Given the description of an element on the screen output the (x, y) to click on. 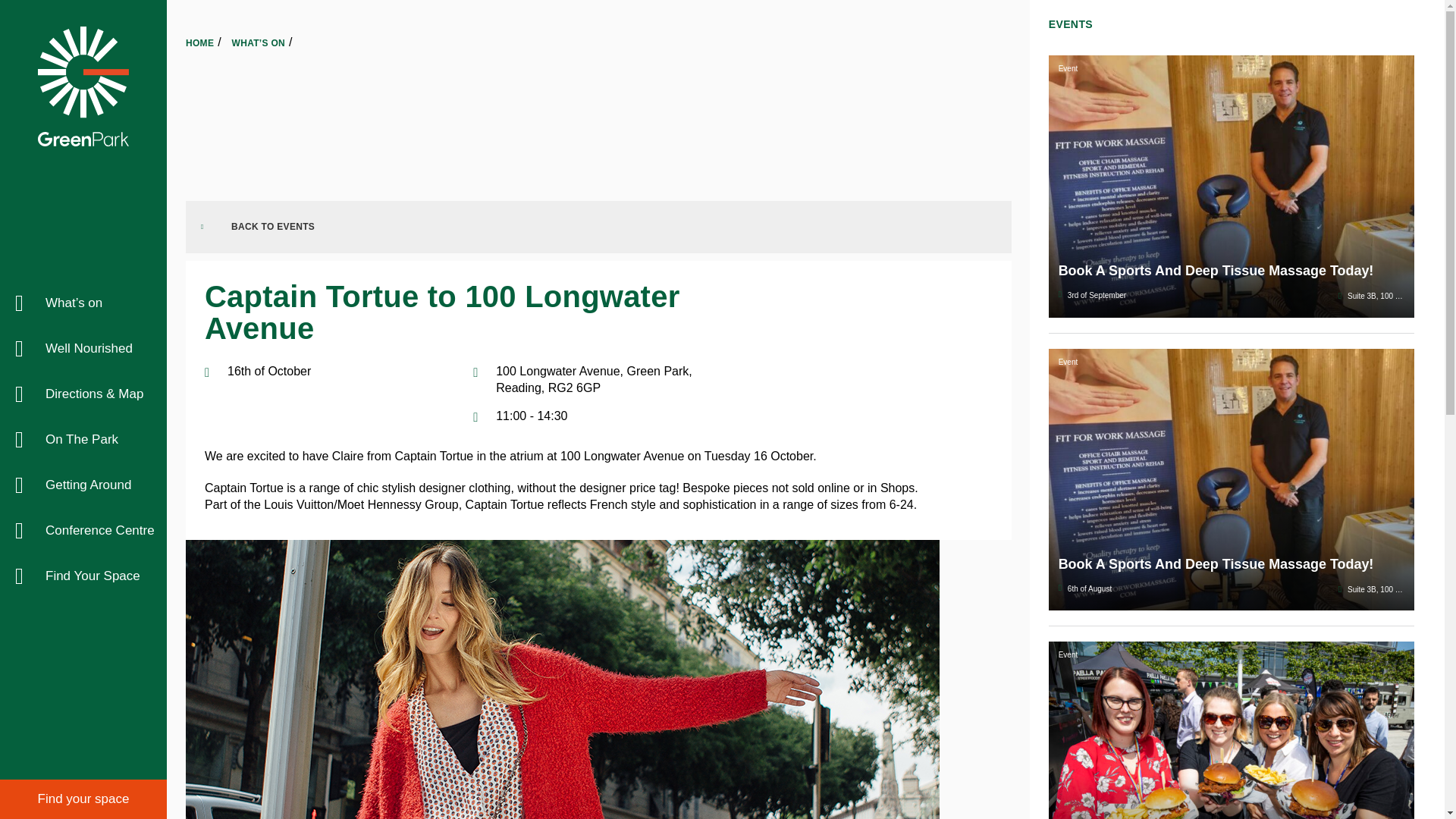
On The Park (83, 439)
Getting Around (83, 484)
BACK TO EVENTS (598, 226)
HOME (200, 42)
Conference Centre (83, 530)
Find your space (83, 799)
Well Nourished (83, 348)
Find Your Space (83, 575)
